Given the description of an element on the screen output the (x, y) to click on. 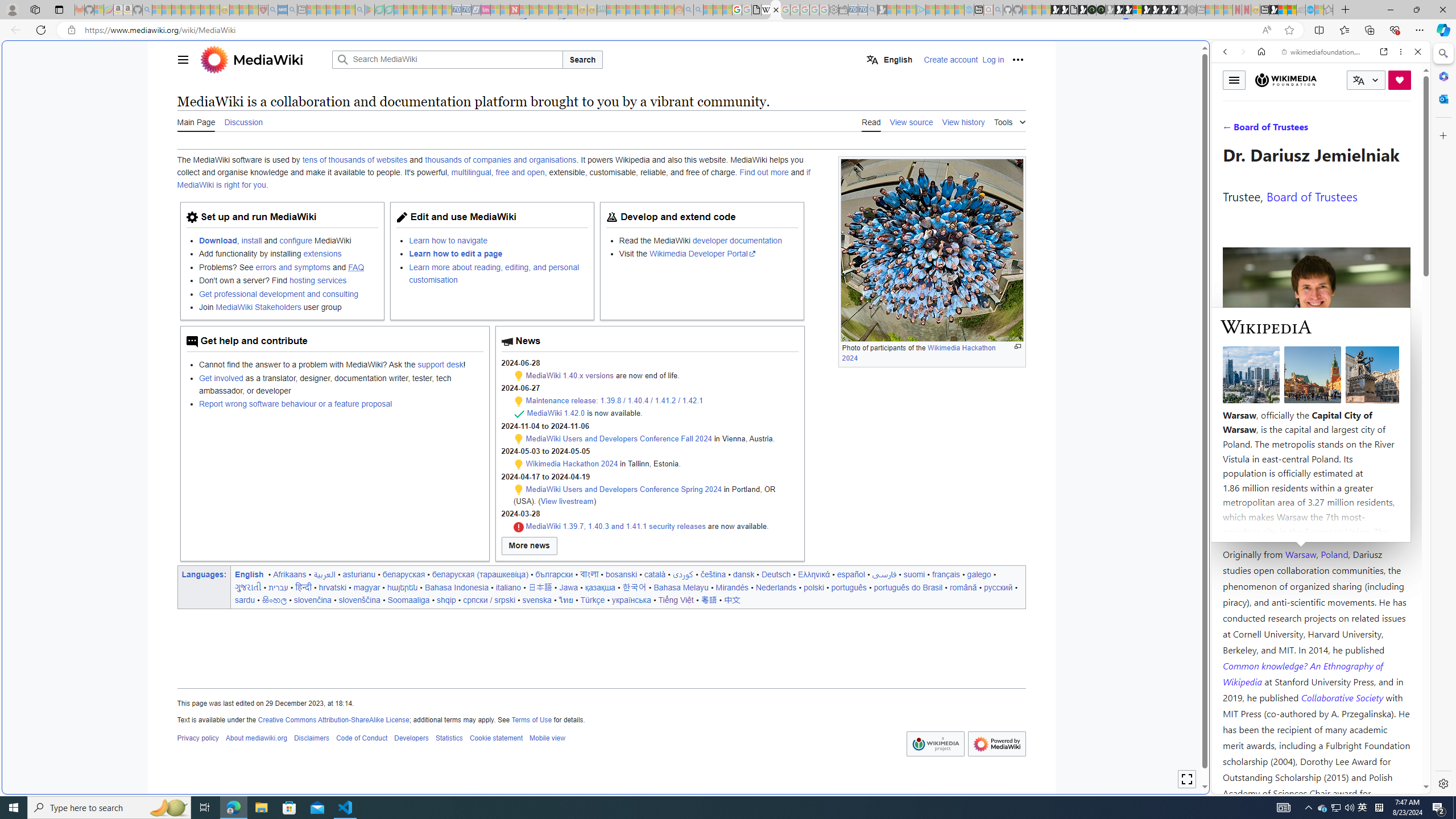
About mediawiki.org (255, 738)
multilingual (471, 172)
Jawa (568, 587)
utah sues federal government - Search (922, 389)
